Given the description of an element on the screen output the (x, y) to click on. 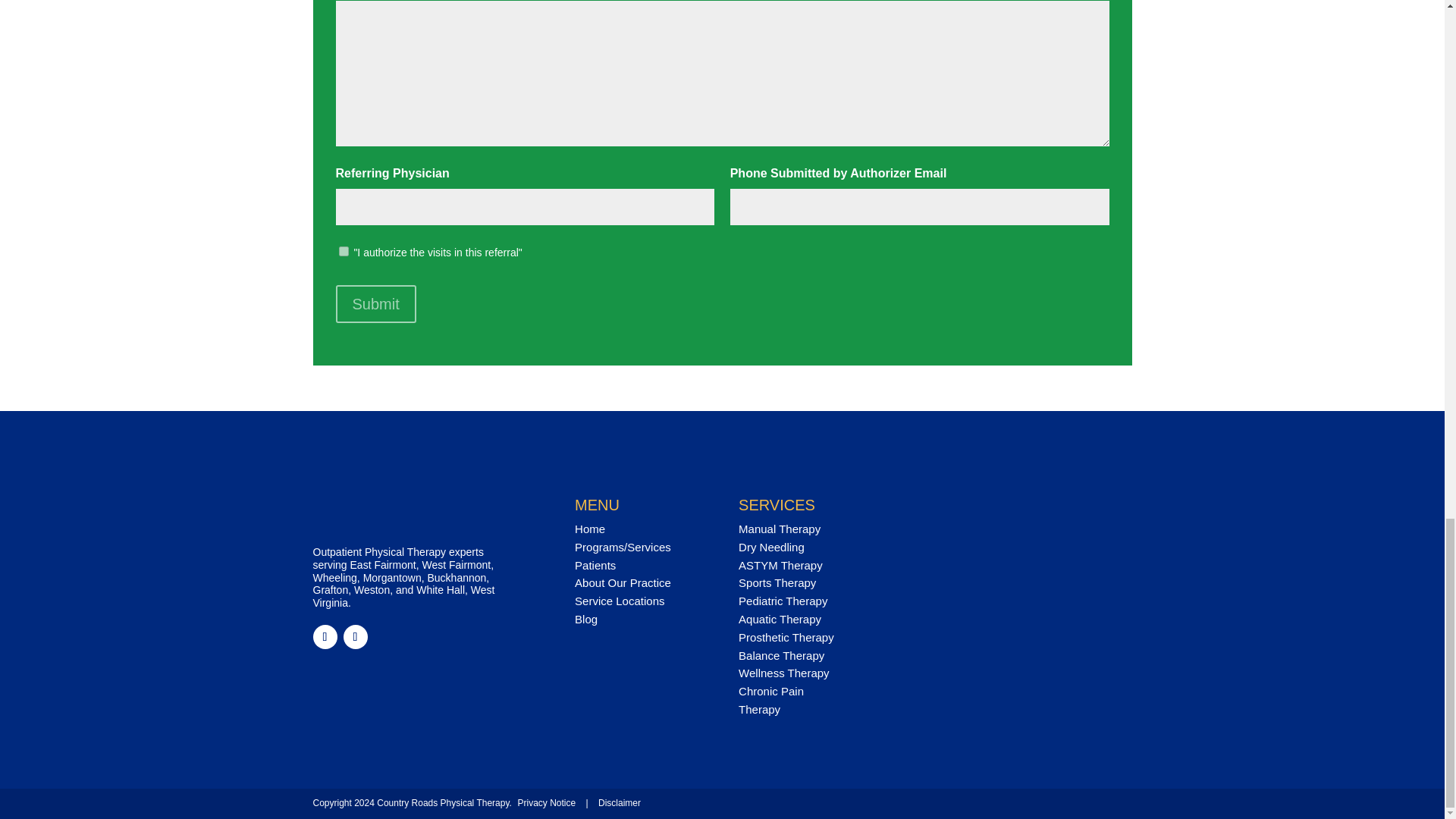
1 (342, 251)
Follow on Instagram (354, 636)
Country Roads Physical Therapy (414, 515)
Follow on Facebook (324, 636)
Submit (374, 303)
